Given the description of an element on the screen output the (x, y) to click on. 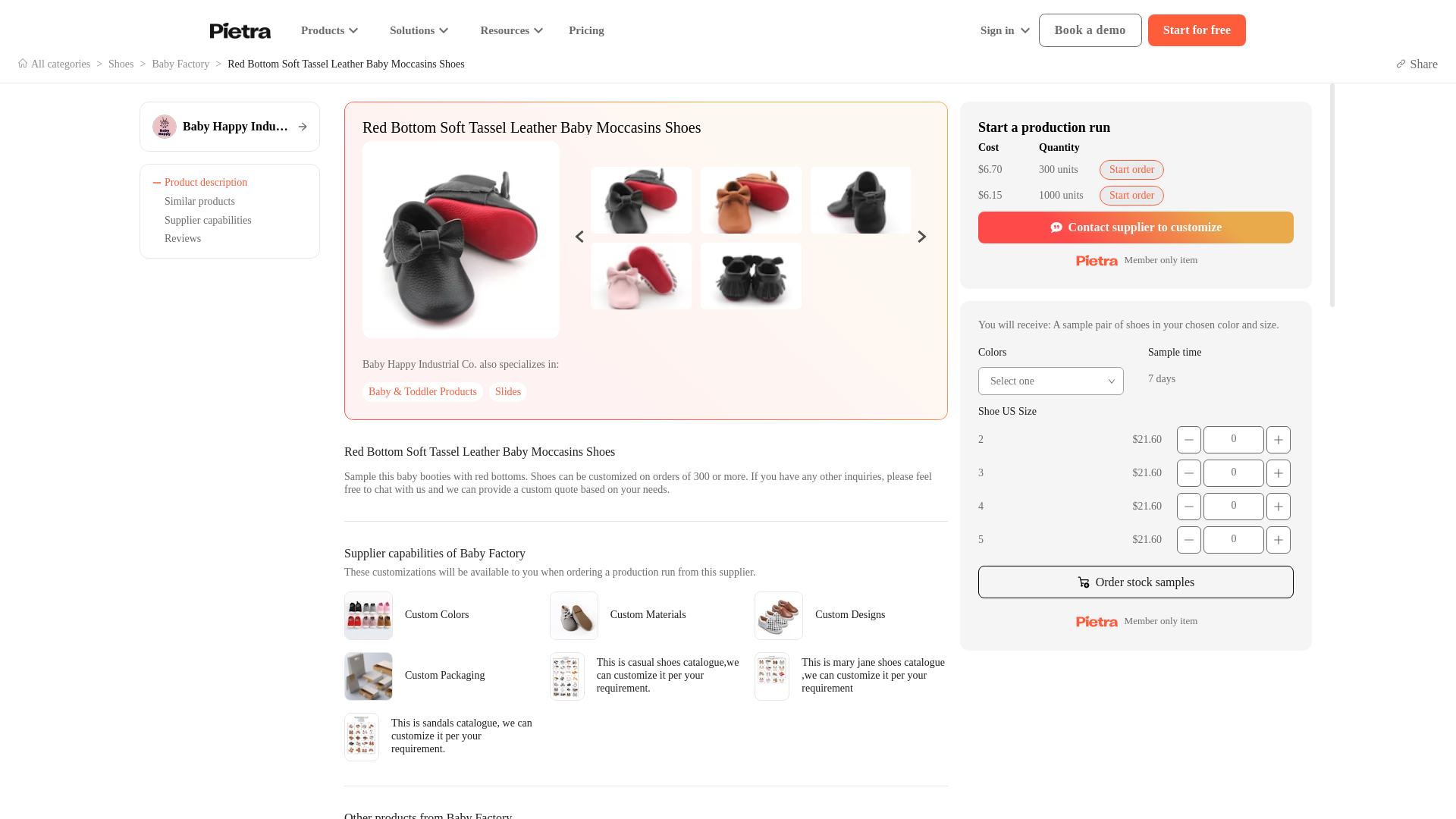
0 (1233, 472)
Shoes (120, 64)
Sign in (1005, 30)
Pietra (239, 30)
0 (1233, 506)
0 (1233, 539)
Start for free (1197, 29)
Pricing (586, 30)
Baby Factory (180, 64)
0 (1233, 439)
Baby Happy Industrial Co. (229, 126)
All categories (53, 64)
